Given the description of an element on the screen output the (x, y) to click on. 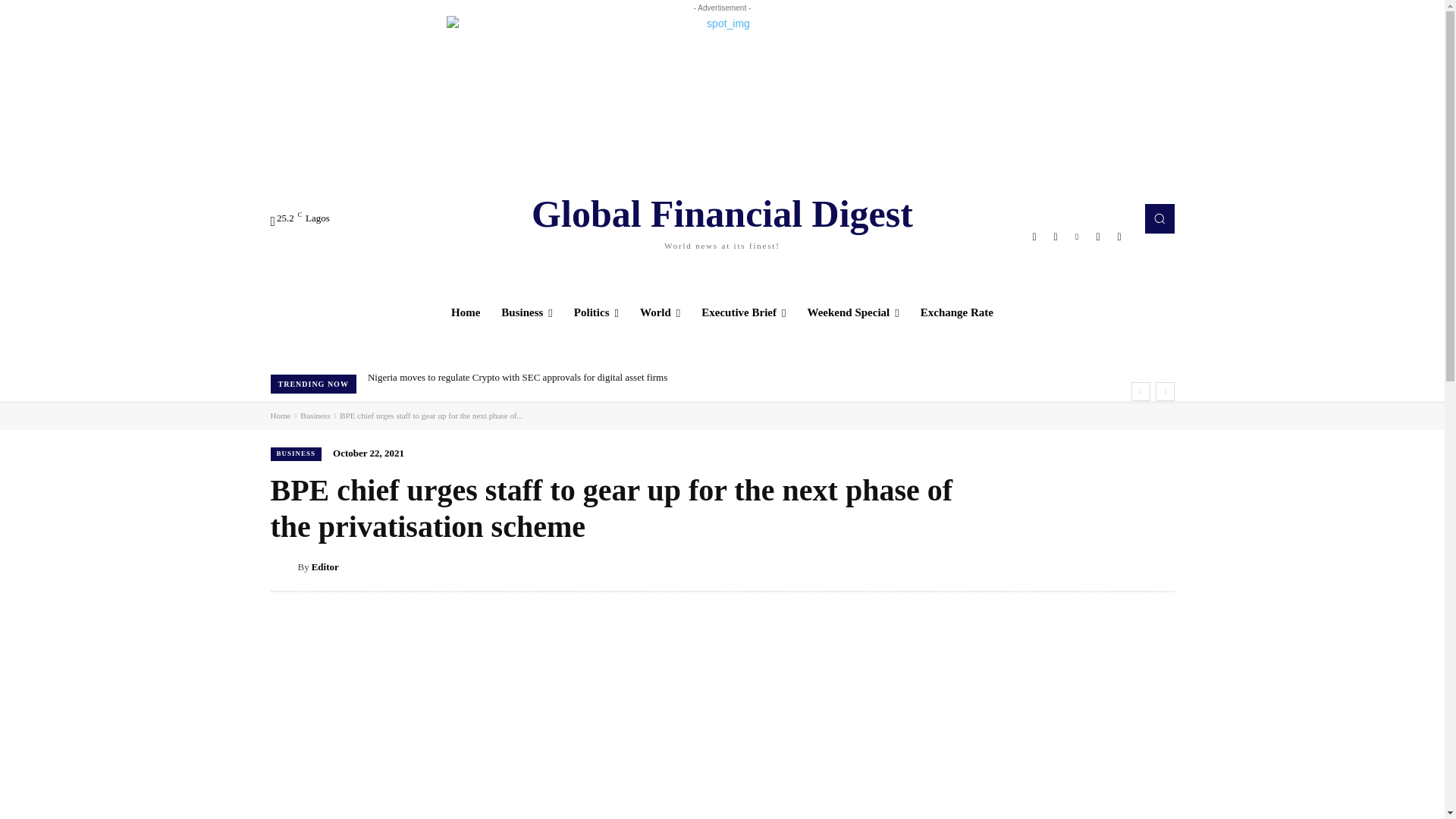
Instagram (1055, 236)
Linkedin (1076, 236)
Home (465, 312)
Business (526, 312)
Facebook (1034, 236)
Twitter (1097, 236)
Youtube (722, 218)
